Given the description of an element on the screen output the (x, y) to click on. 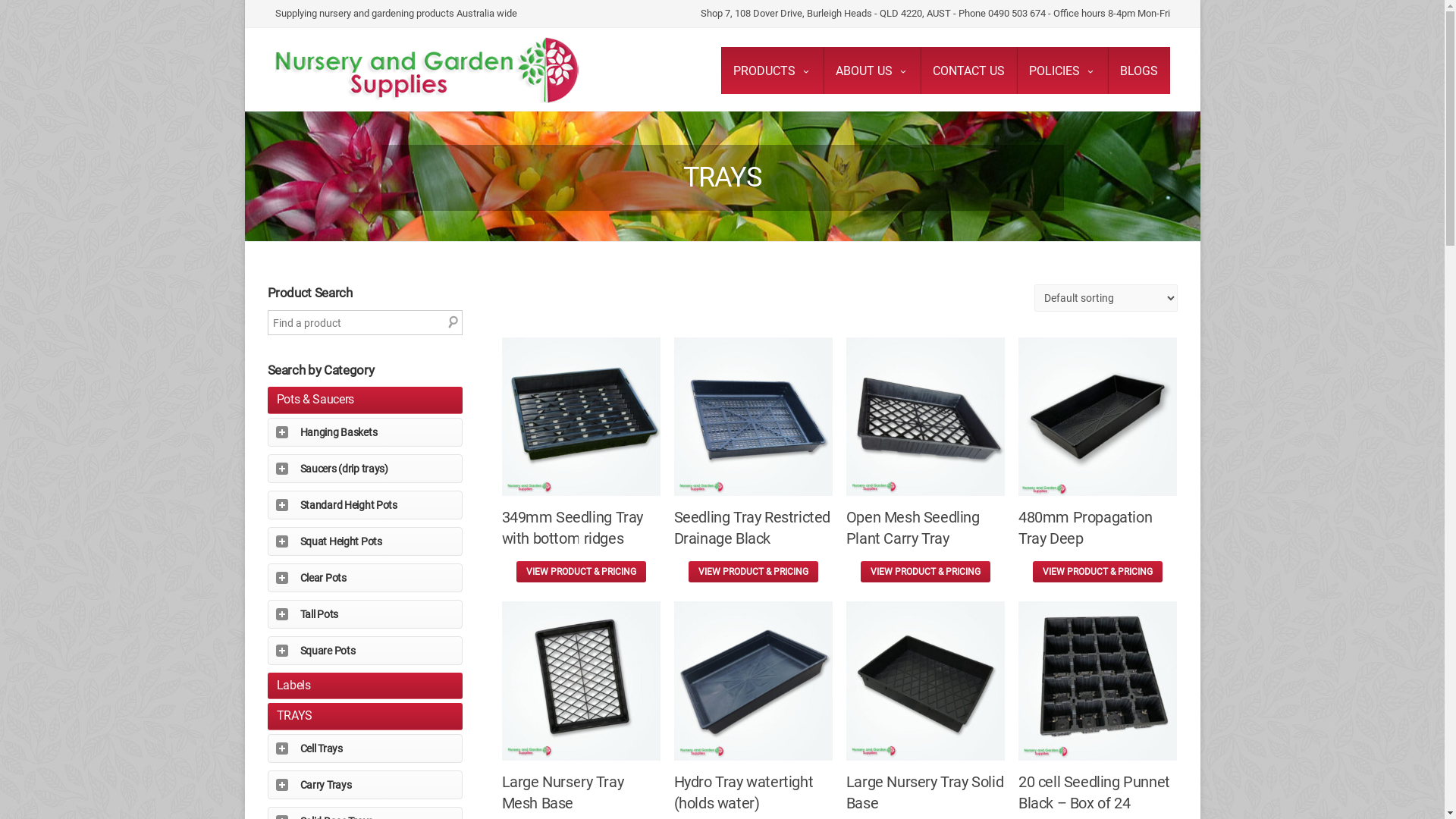
480mm Propagation Tray Deep Element type: text (1097, 457)
VIEW PRODUCT & PRICING Element type: text (1097, 571)
POLICIES Element type: text (1061, 70)
CONTACT US Element type: text (968, 70)
Seedling Tray Restricted Drainage Black Element type: text (753, 457)
BLOGS Element type: text (1138, 70)
349mm Seedling Tray with bottom ridges Element type: text (581, 457)
TRAYS Element type: text (293, 715)
VIEW PRODUCT & PRICING Element type: text (925, 571)
Pots & Saucers Element type: text (315, 399)
VIEW PRODUCT & PRICING Element type: text (753, 571)
VIEW PRODUCT & PRICING Element type: text (581, 571)
Labels Element type: text (293, 684)
Open Mesh Seedling Plant Carry Tray Element type: text (925, 457)
PRODUCTS Element type: text (771, 70)
ABOUT US Element type: text (871, 70)
